Given the description of an element on the screen output the (x, y) to click on. 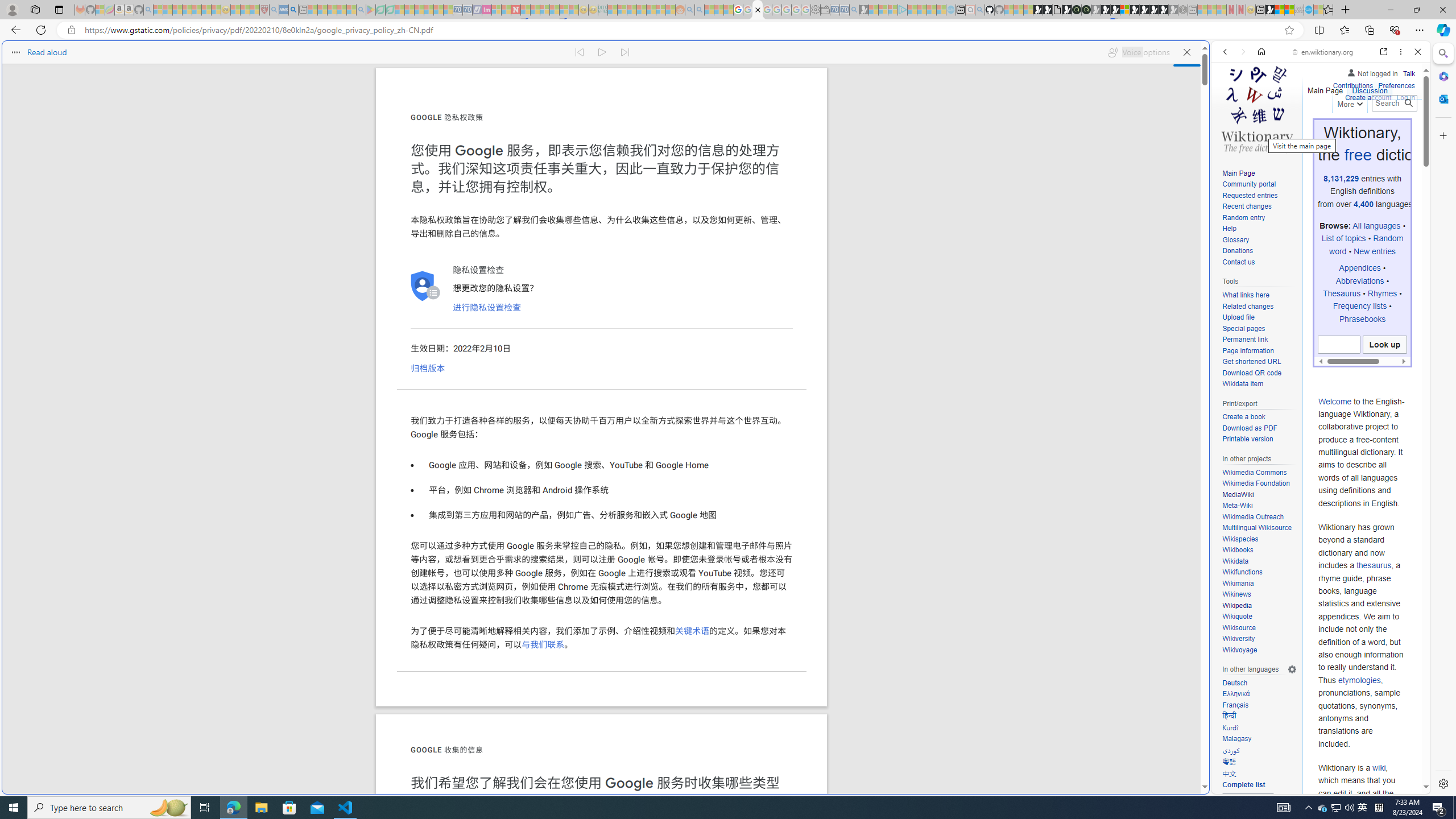
Get shortened URL (1251, 361)
Read next paragraph (624, 52)
Requested entries (1259, 196)
Frequently visited (965, 151)
New entries (1375, 250)
Wikibooks (1259, 550)
